Given the description of an element on the screen output the (x, y) to click on. 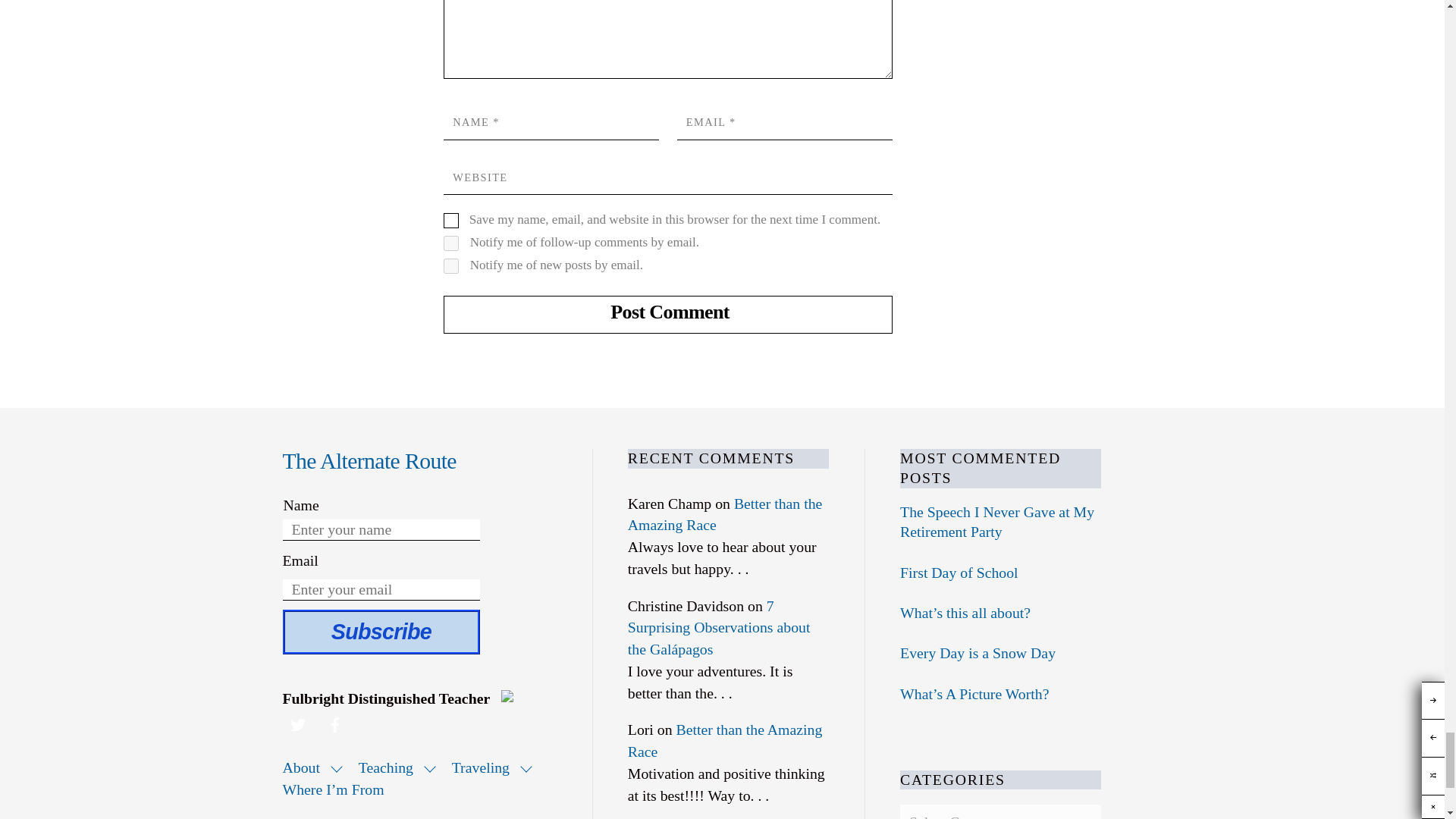
yes (451, 220)
subscribe (451, 265)
The Alternate Route (368, 460)
Subscribe (381, 631)
Post Comment (668, 314)
subscribe (451, 242)
